Given the description of an element on the screen output the (x, y) to click on. 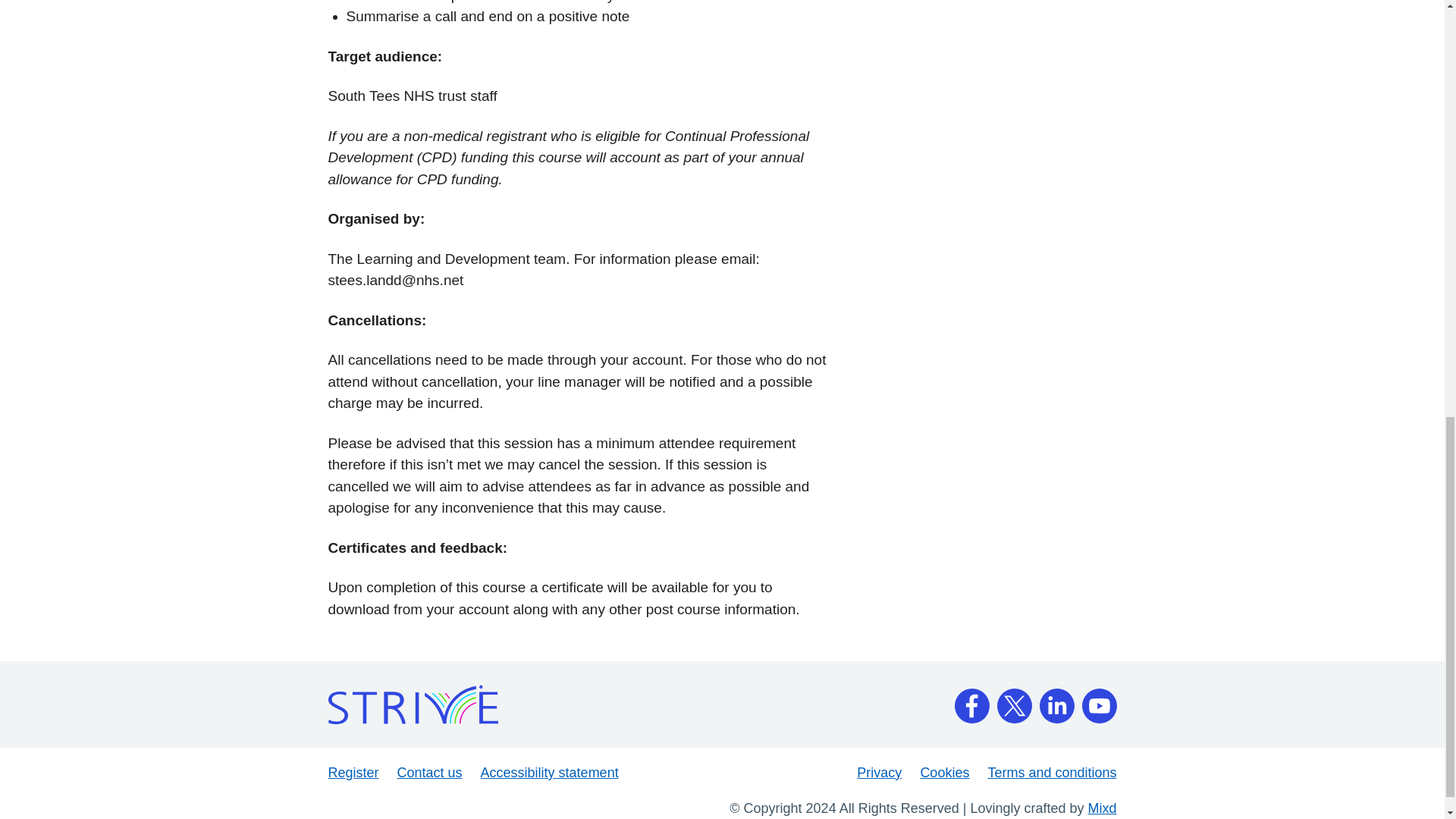
Register (352, 772)
Cookies (944, 772)
Privacy (879, 772)
Group 9 (1098, 700)
Group 8 (1056, 700)
Group 5 (970, 700)
Contact us (430, 772)
Accessibility statement (549, 772)
Terms and conditions (1051, 772)
Group 7 (1012, 700)
